Given the description of an element on the screen output the (x, y) to click on. 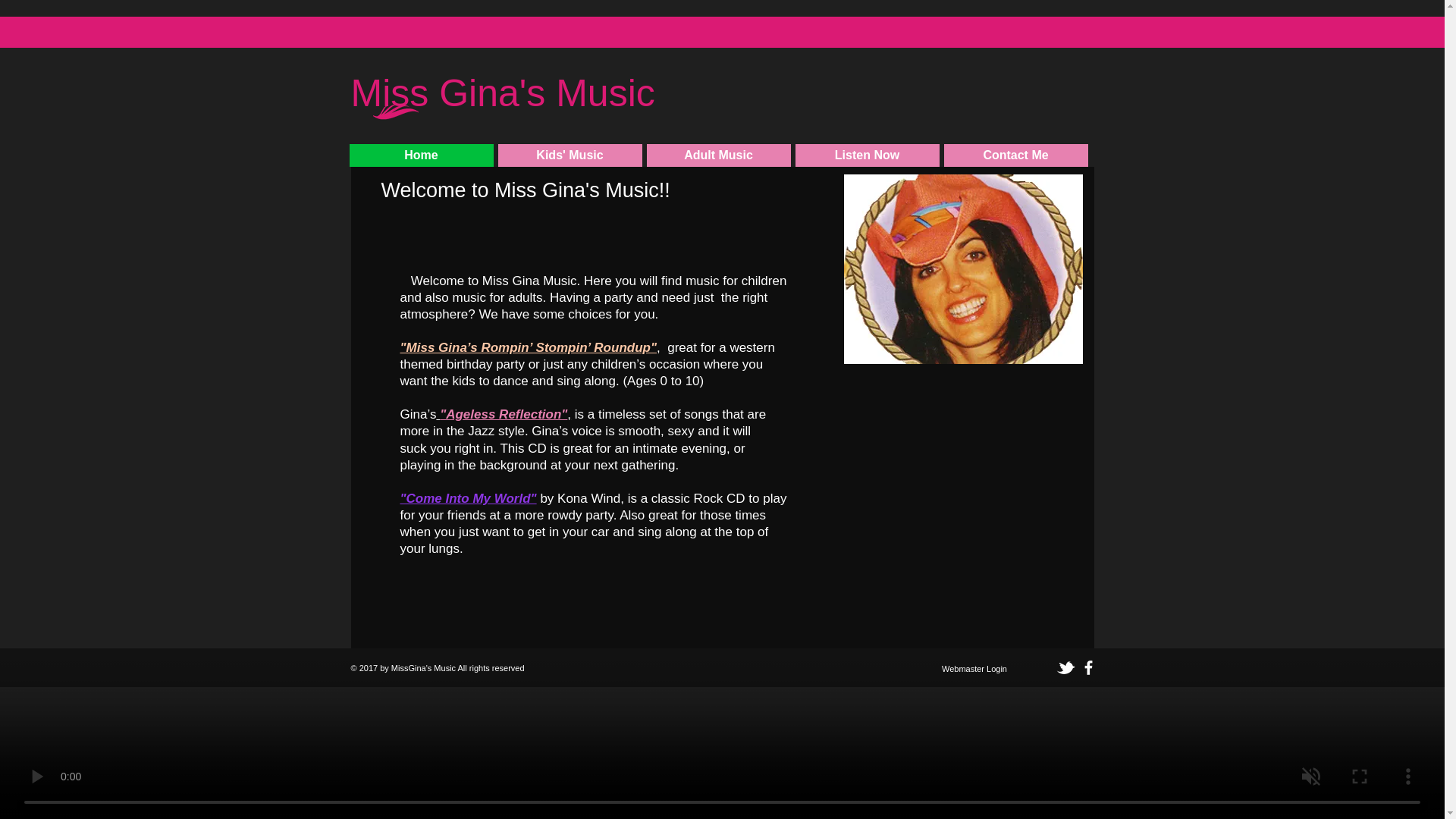
Miss Gina's Music (501, 103)
Webmaster Login (974, 668)
"Come Into My World" (468, 498)
Adult Music (718, 155)
Kids' Music (569, 155)
Home (421, 155)
Contact Me (1015, 155)
"Ageless Reflection", (502, 414)
Listen Now (866, 155)
